Given the description of an element on the screen output the (x, y) to click on. 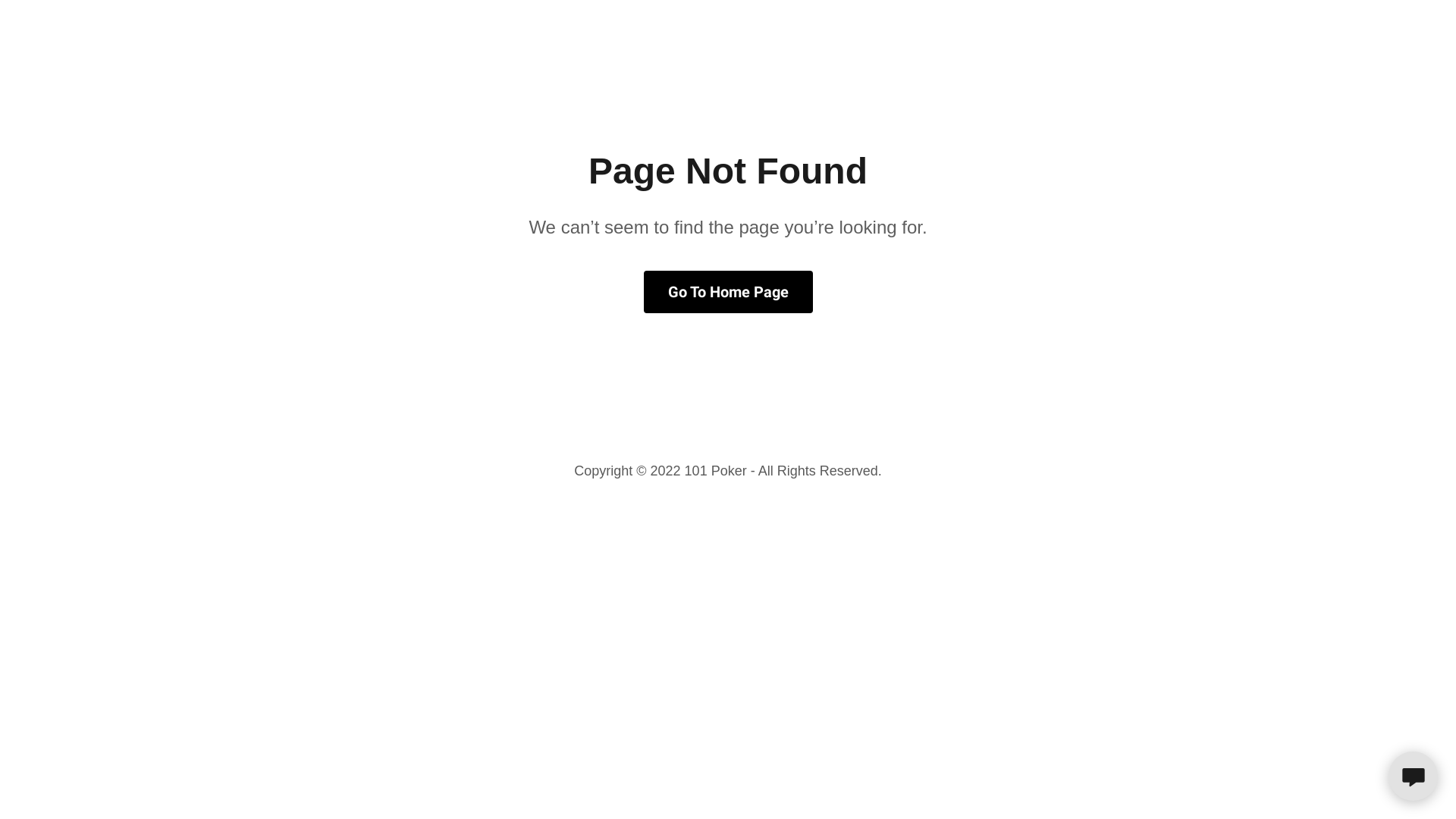
Go To Home Page Element type: text (727, 291)
